Given the description of an element on the screen output the (x, y) to click on. 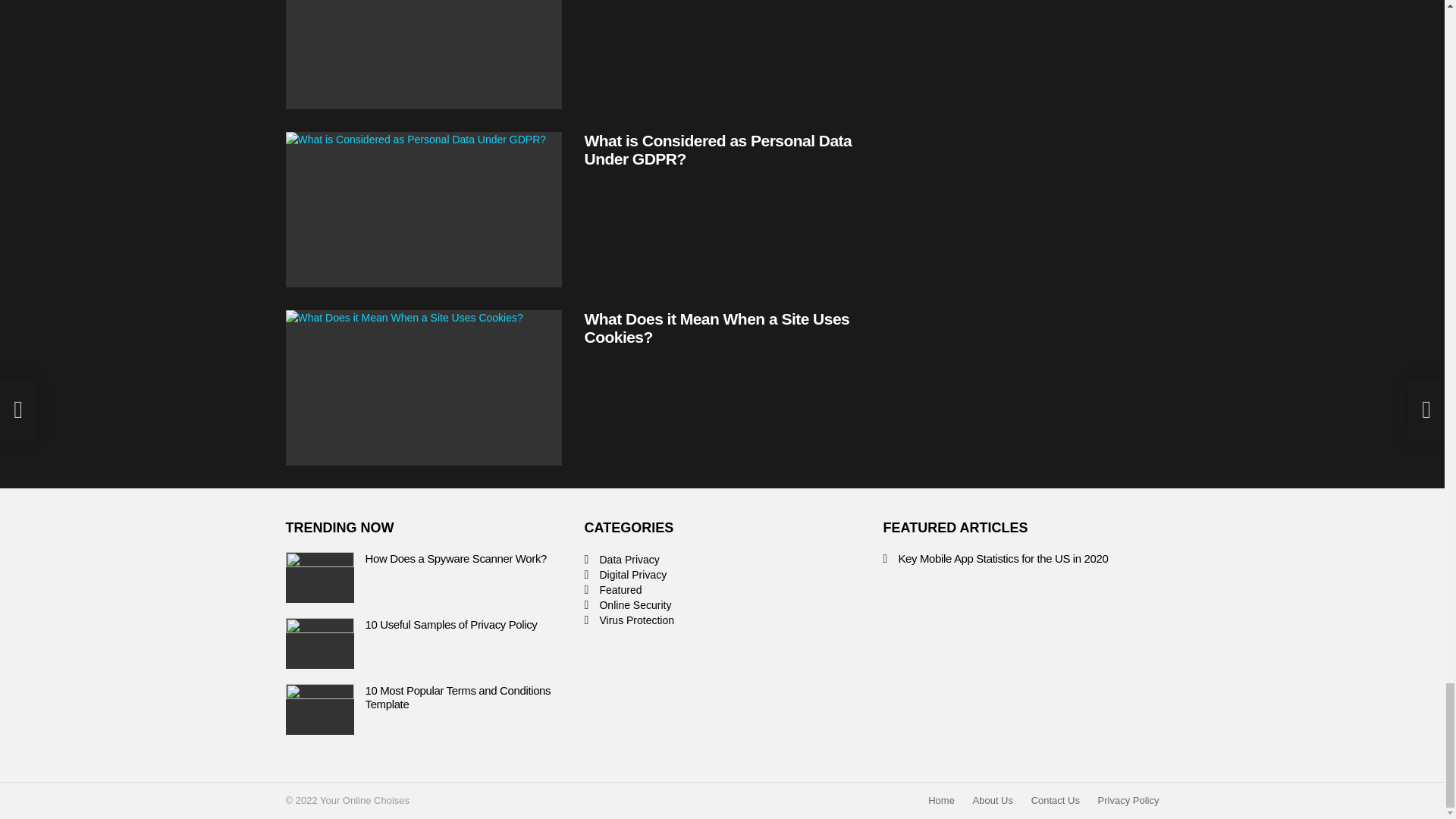
What is Considered as Personal Data Under GDPR? (717, 149)
What Makes a GDPR Compliant Privacy Policy? (422, 54)
What Does it Mean When a Site Uses Cookies? (422, 388)
What Does it Mean When a Site Uses Cookies? (715, 327)
What is Considered as Personal Data Under GDPR? (422, 209)
